Given the description of an element on the screen output the (x, y) to click on. 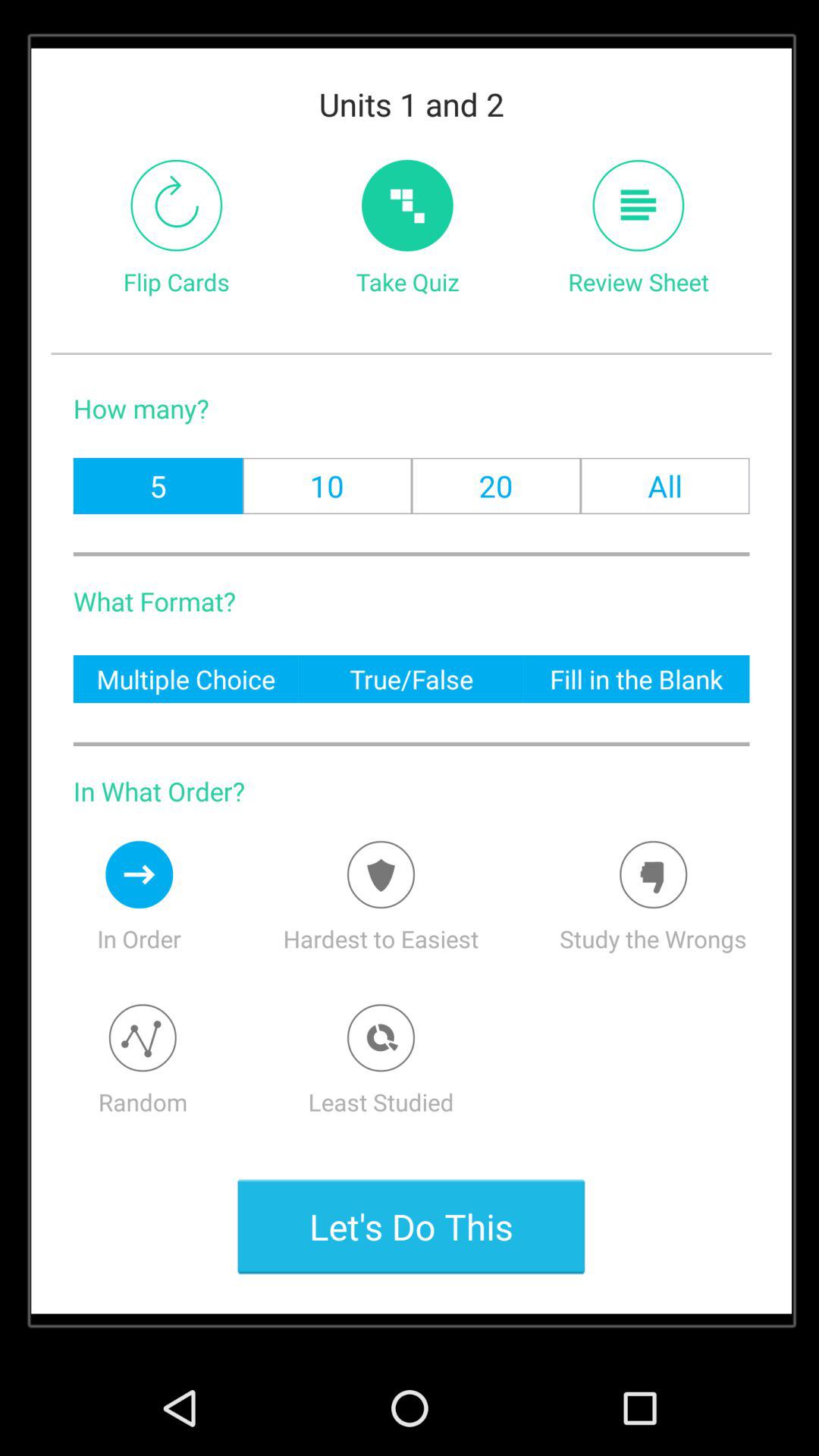
sort by random (142, 1037)
